Given the description of an element on the screen output the (x, y) to click on. 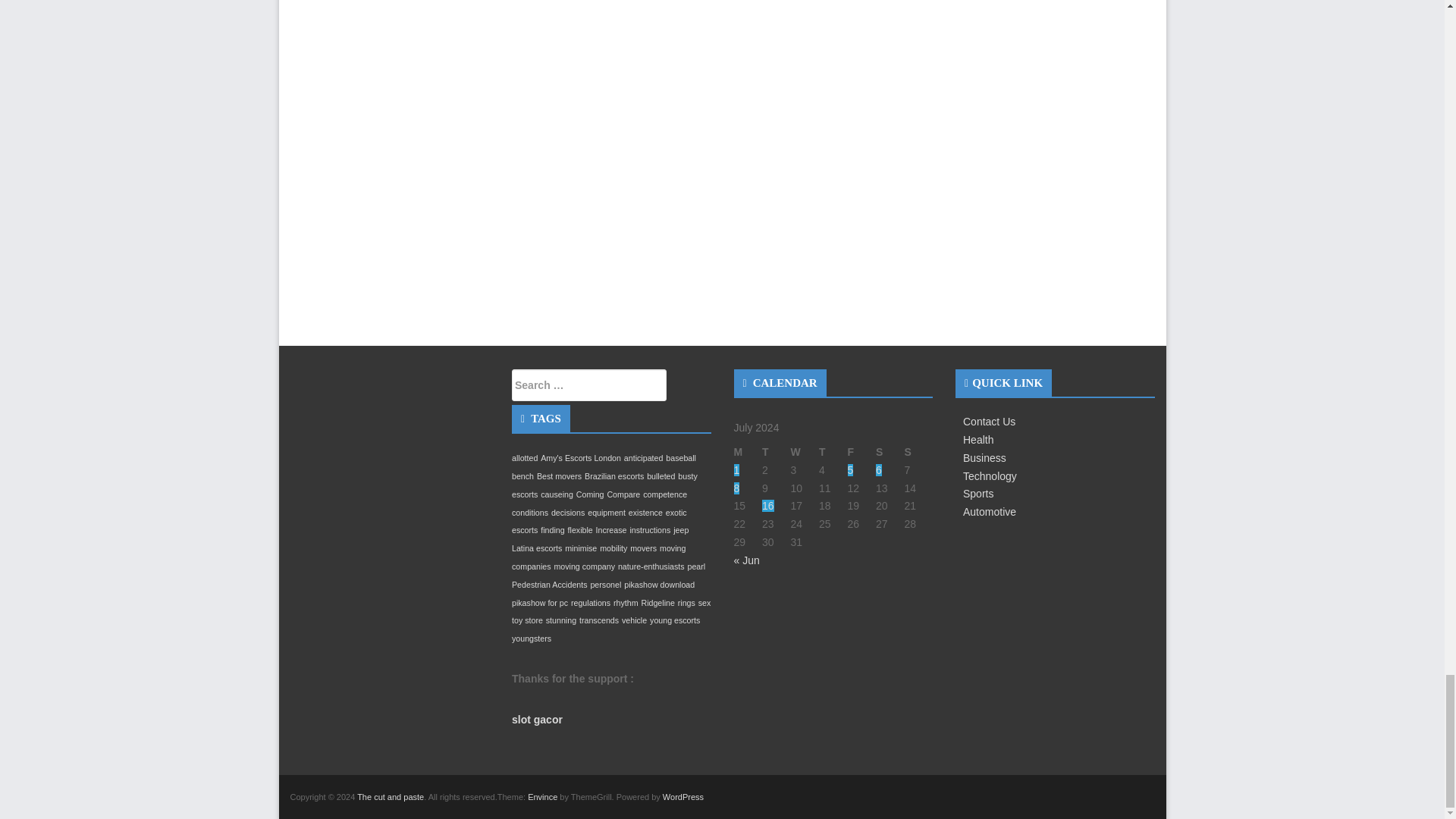
Monday (747, 452)
Sunday (918, 452)
Wednesday (804, 452)
Friday (861, 452)
Tuesday (775, 452)
Saturday (890, 452)
Thursday (832, 452)
